Given the description of an element on the screen output the (x, y) to click on. 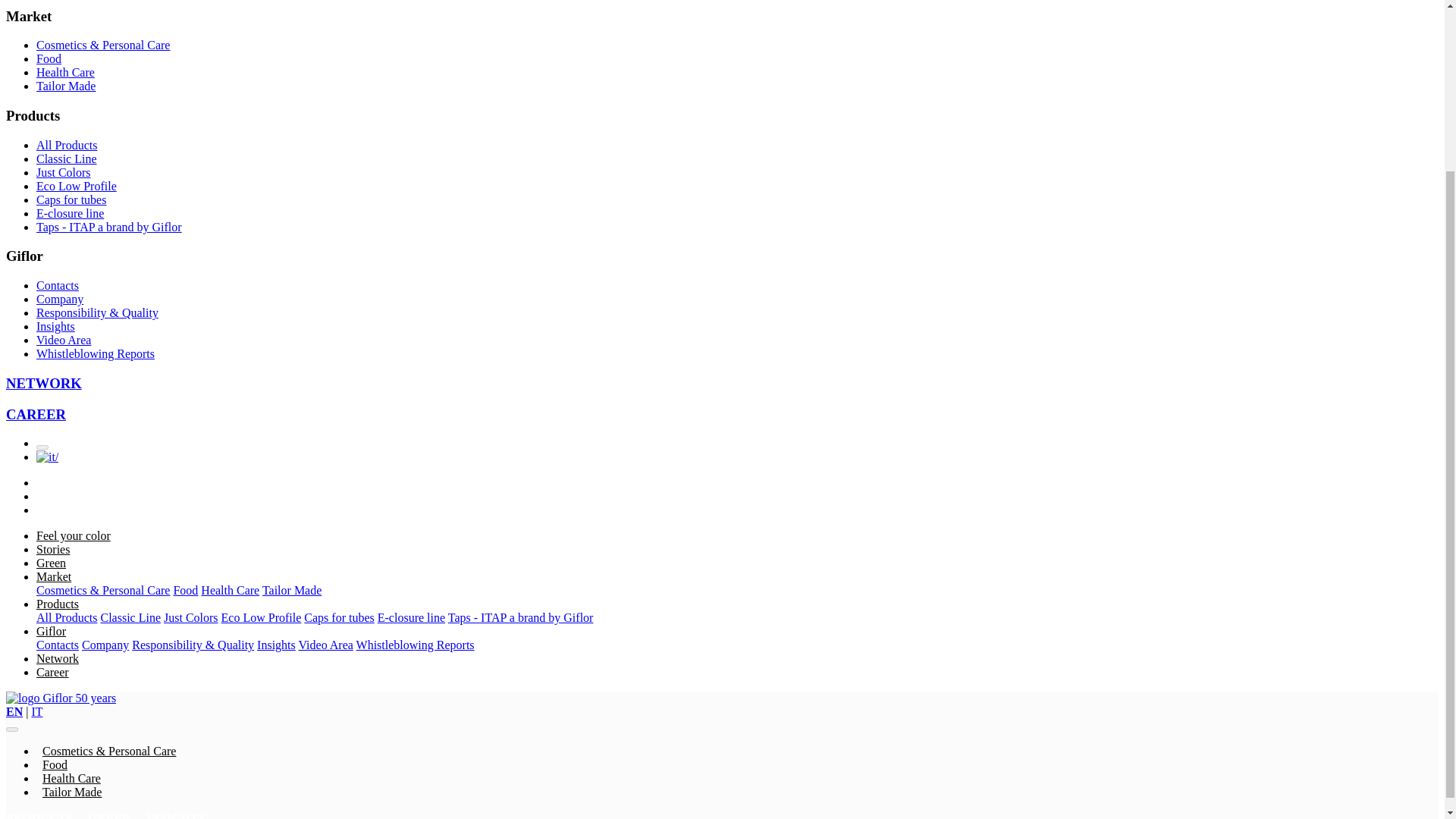
Video Area (63, 339)
NETWORK (43, 383)
Just Colors (63, 172)
CAREER (35, 414)
Products (32, 115)
Company (59, 298)
Market (27, 16)
Food (48, 58)
Insights (55, 326)
Eco Low Profile (76, 185)
Tailor Made (291, 590)
Feel your color (73, 535)
Whistleblowing Reports (95, 353)
All Products (66, 144)
Market (53, 576)
